Given the description of an element on the screen output the (x, y) to click on. 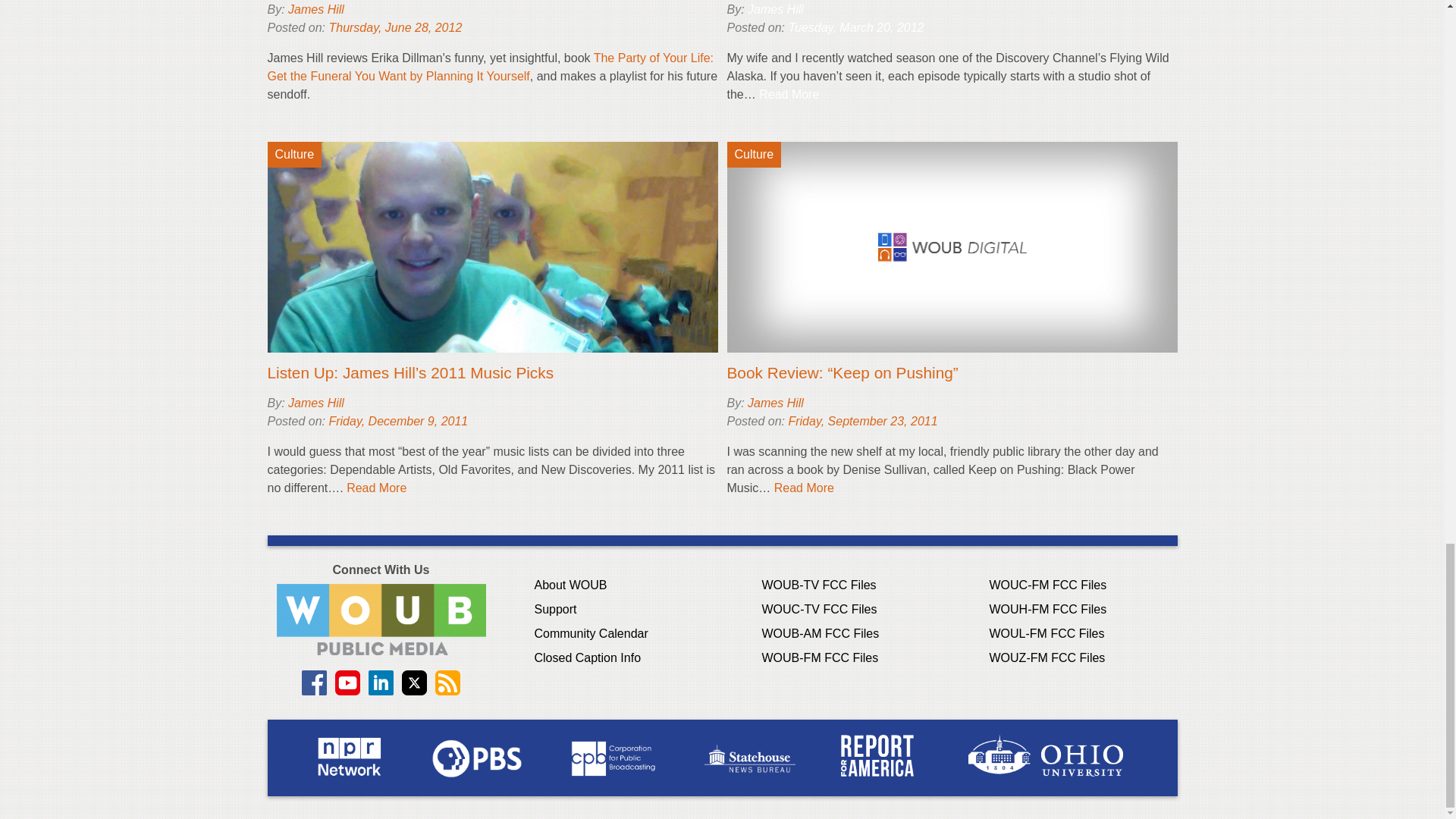
Contact WOUB (380, 618)
